Given the description of an element on the screen output the (x, y) to click on. 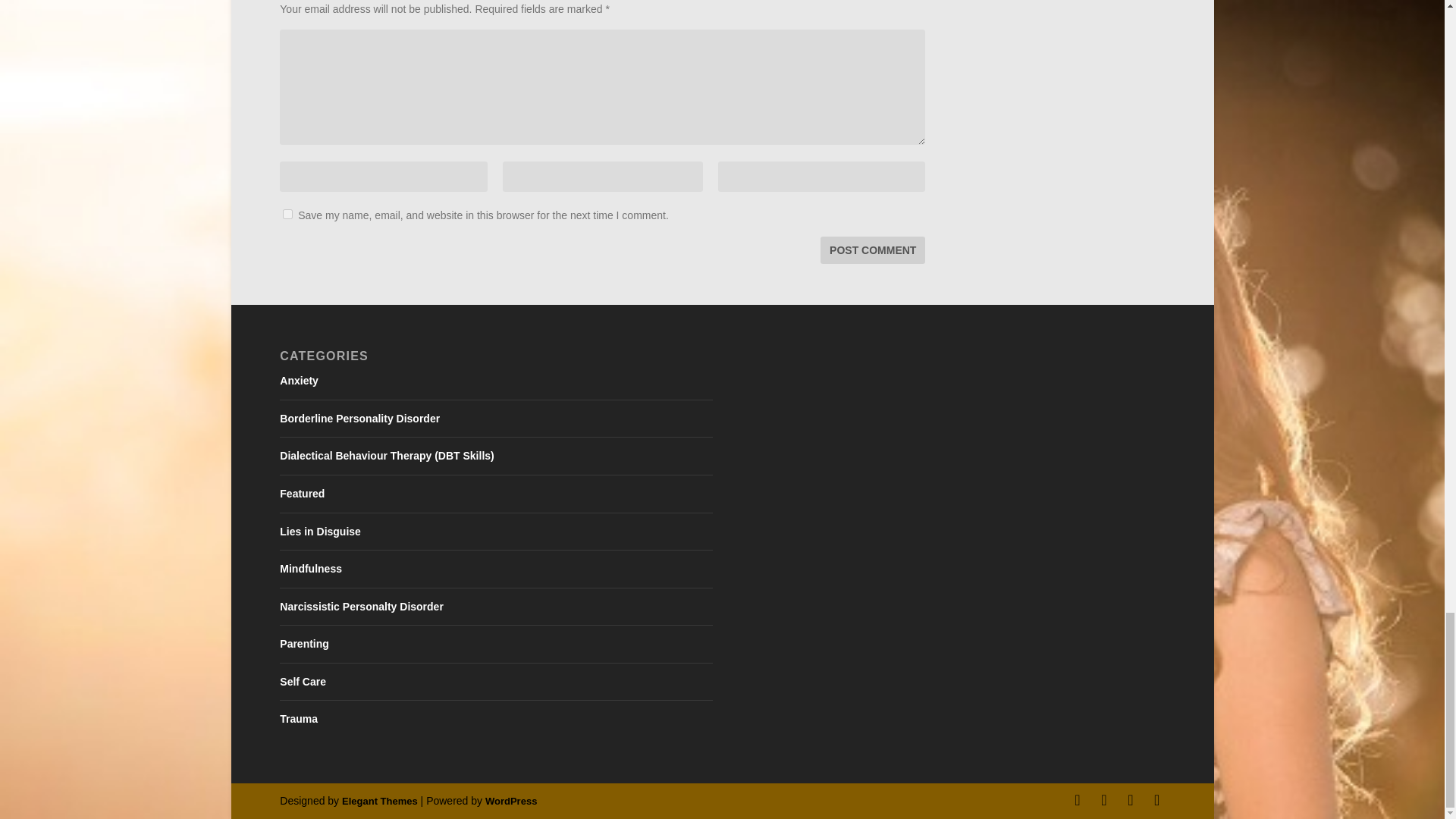
yes (287, 214)
Post Comment (872, 249)
Post Comment (872, 249)
